Given the description of an element on the screen output the (x, y) to click on. 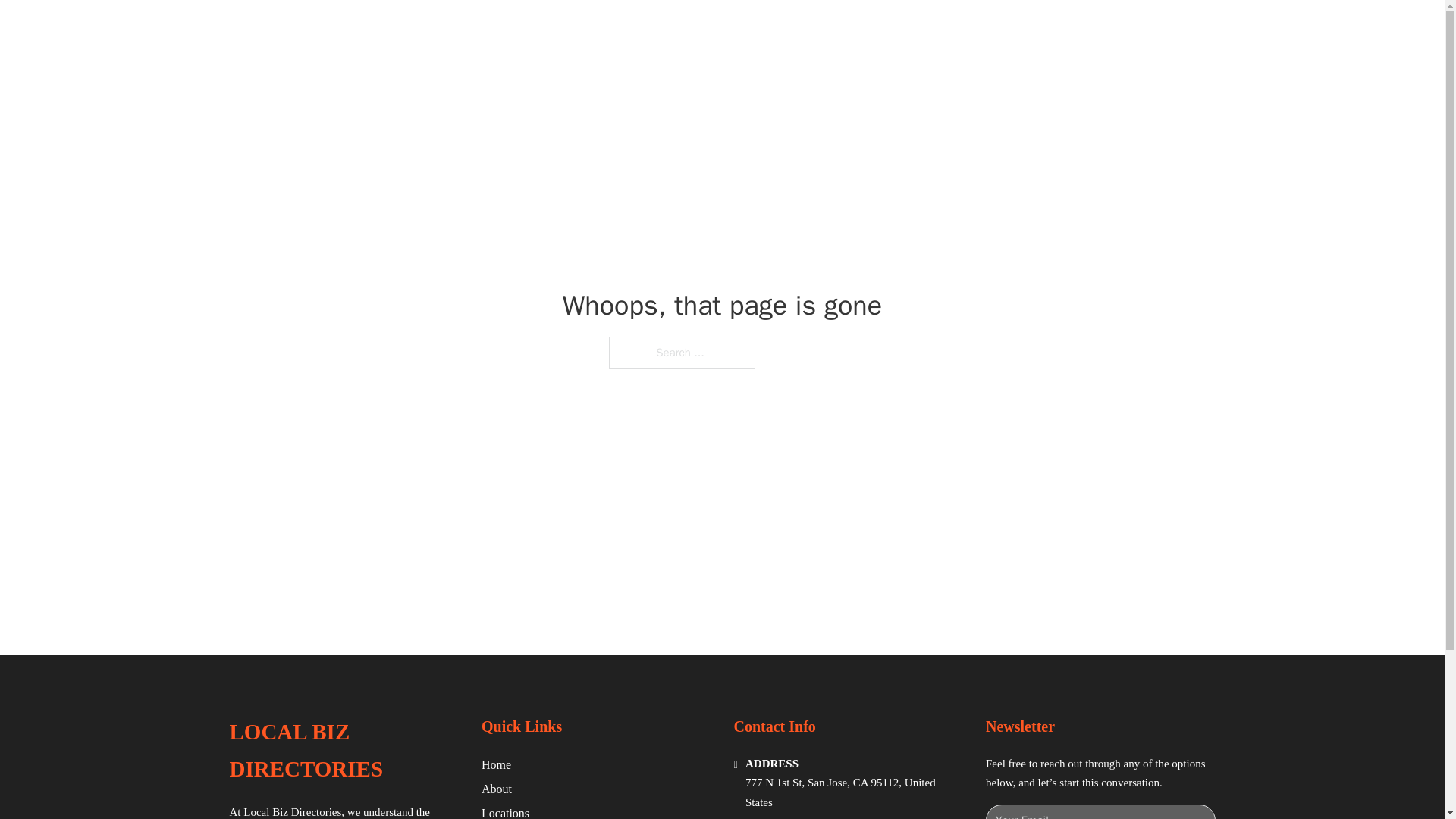
About (496, 788)
HOME (919, 29)
Locations (505, 811)
LOCAL BIZ DIRECTORIES (430, 28)
Home (496, 764)
LOCATIONS (990, 29)
LOCAL BIZ DIRECTORIES (343, 750)
